Given the description of an element on the screen output the (x, y) to click on. 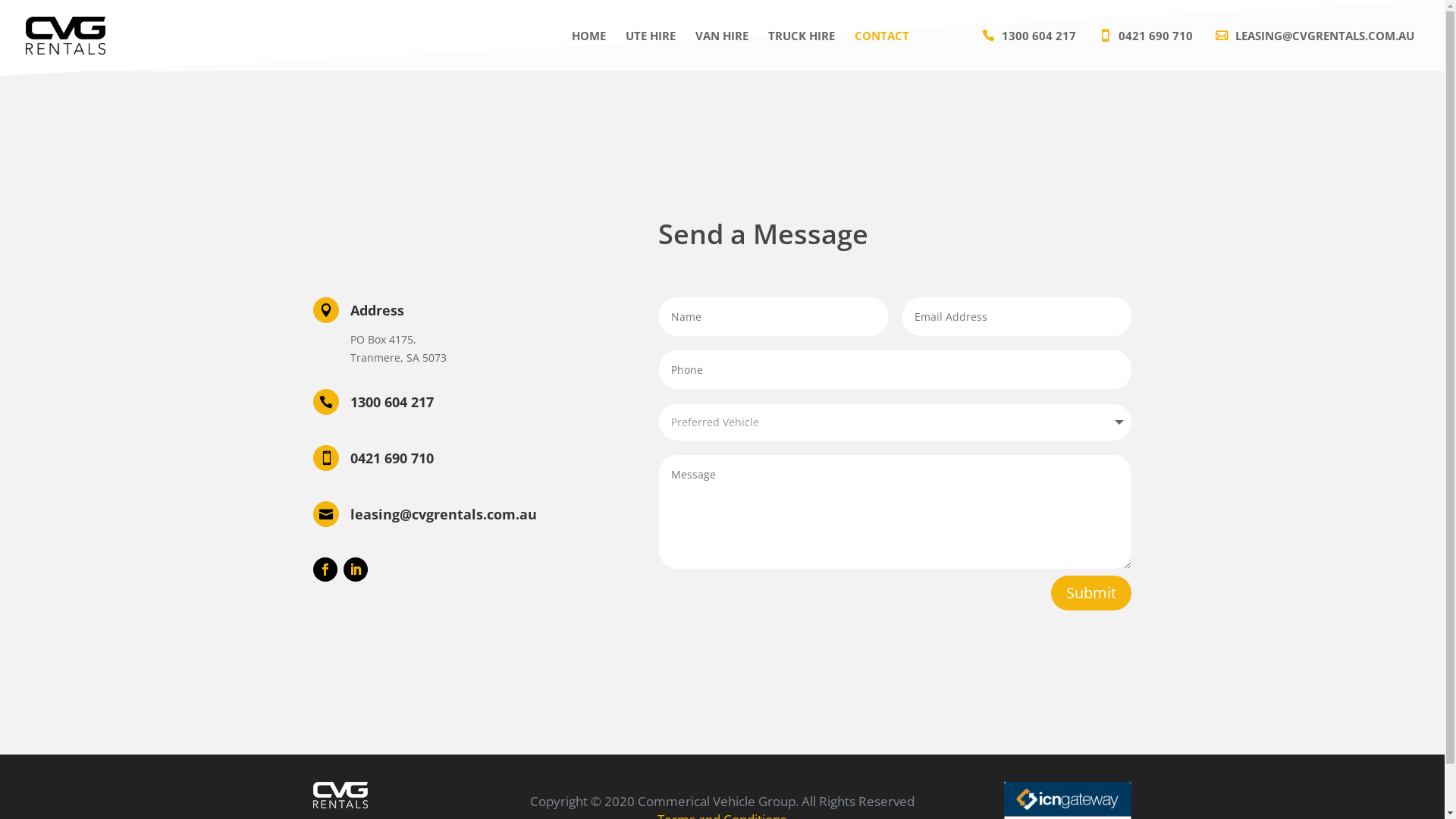
TRUCK HIRE Element type: text (801, 50)
CONTACT Element type: text (881, 50)
cvg_txt_white_left Element type: hover (339, 794)
UTE HIRE Element type: text (650, 50)
VAN HIRE Element type: text (721, 50)
1300 604 217 Element type: text (1030, 50)
HOME Element type: text (588, 50)
Follow on LinkedIn Element type: hover (354, 569)
Follow on Facebook Element type: hover (324, 569)
Submit Element type: text (1091, 592)
0421 690 710 Element type: text (1146, 50)
LEASING@CVGRENTALS.COM.AU Element type: text (1317, 50)
